Given the description of an element on the screen output the (x, y) to click on. 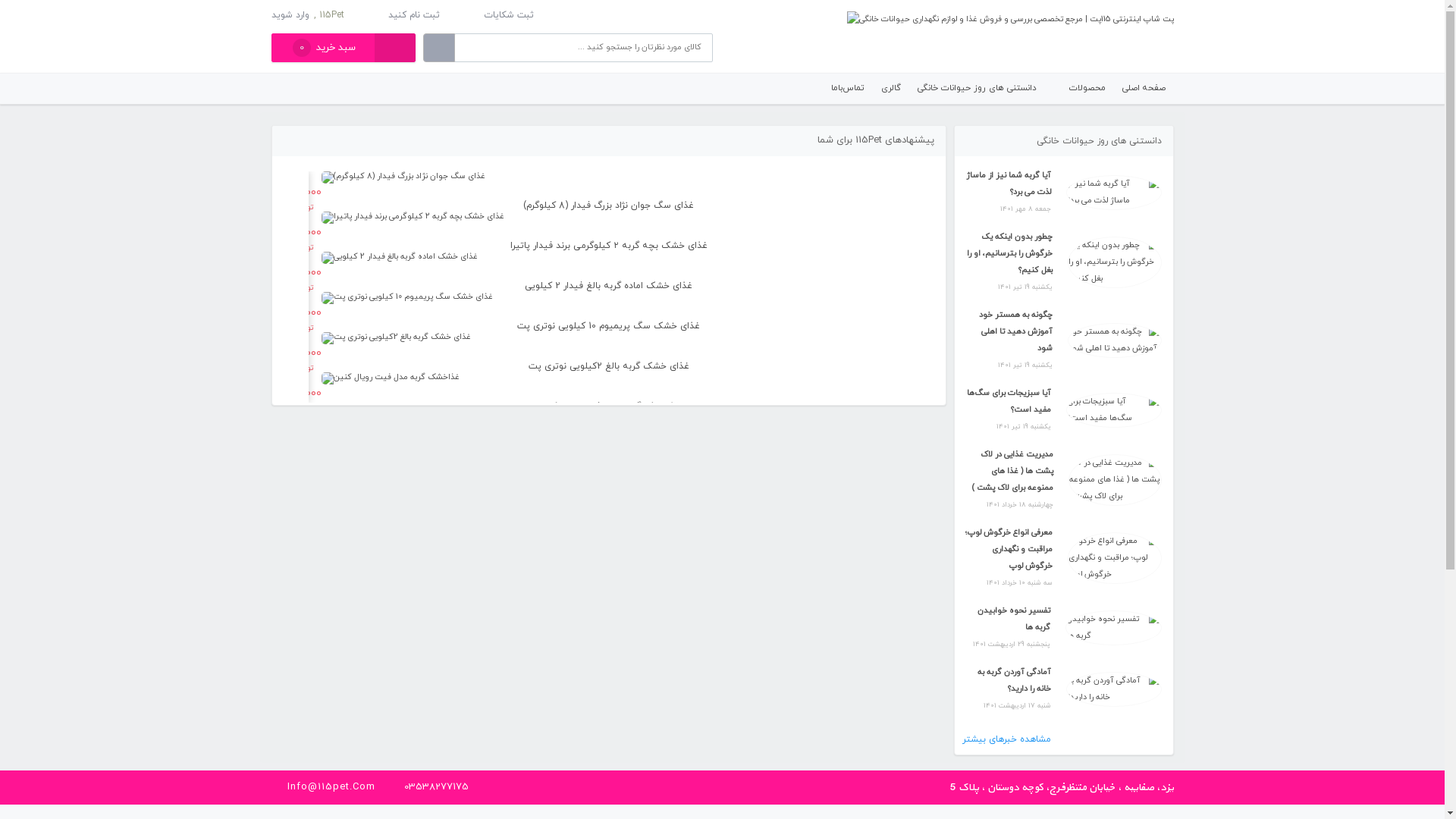
03538277175 Element type: text (435, 786)
